Given the description of an element on the screen output the (x, y) to click on. 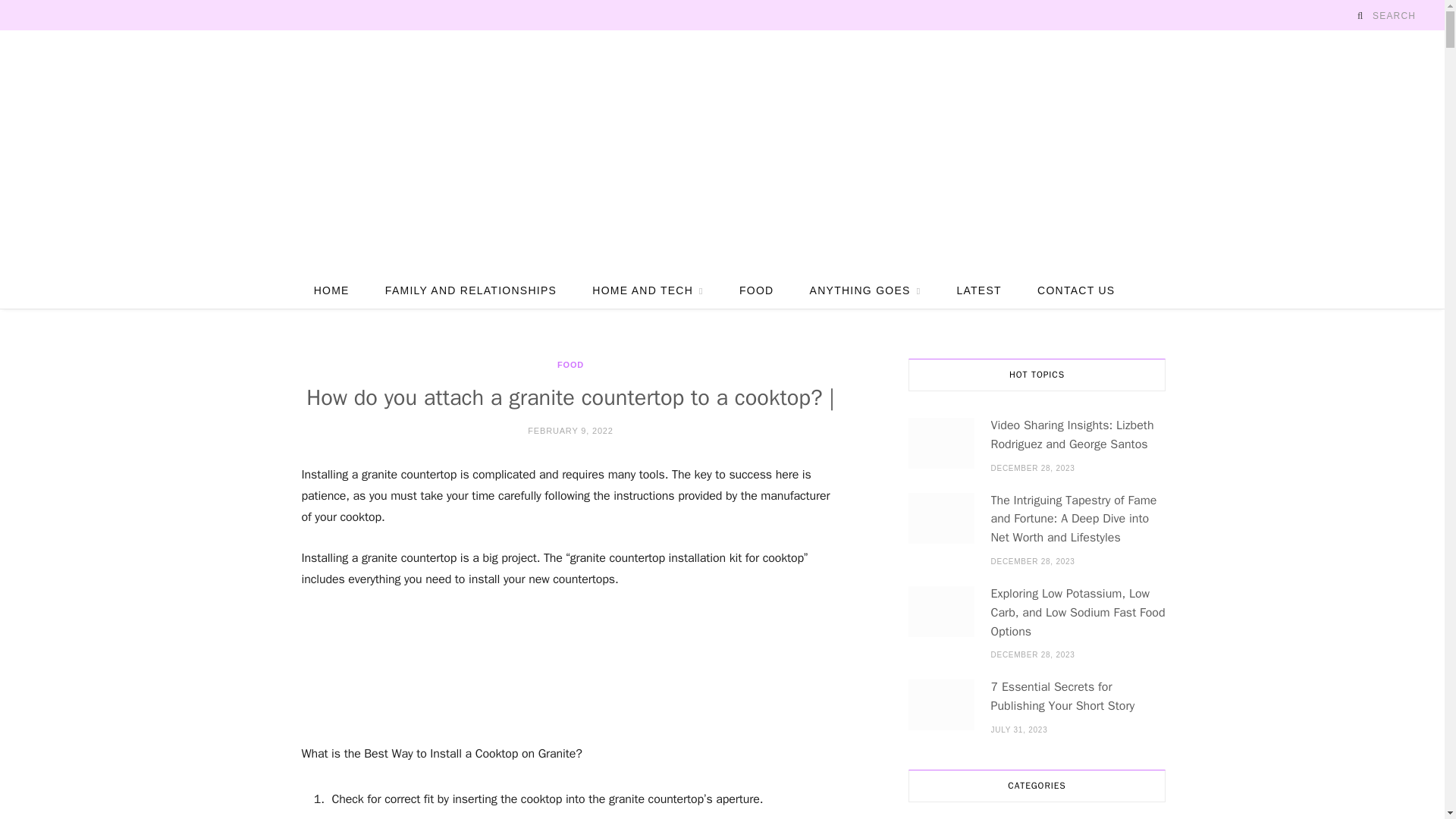
HOME AND TECH (647, 290)
FOOD (756, 290)
Love Lola Blog (721, 151)
FEBRUARY 9, 2022 (569, 429)
ANYTHING GOES (865, 290)
FOOD (570, 364)
FAMILY AND RELATIONSHIPS (470, 290)
CONTACT US (1076, 290)
HOME (331, 290)
LATEST (978, 290)
